Given the description of an element on the screen output the (x, y) to click on. 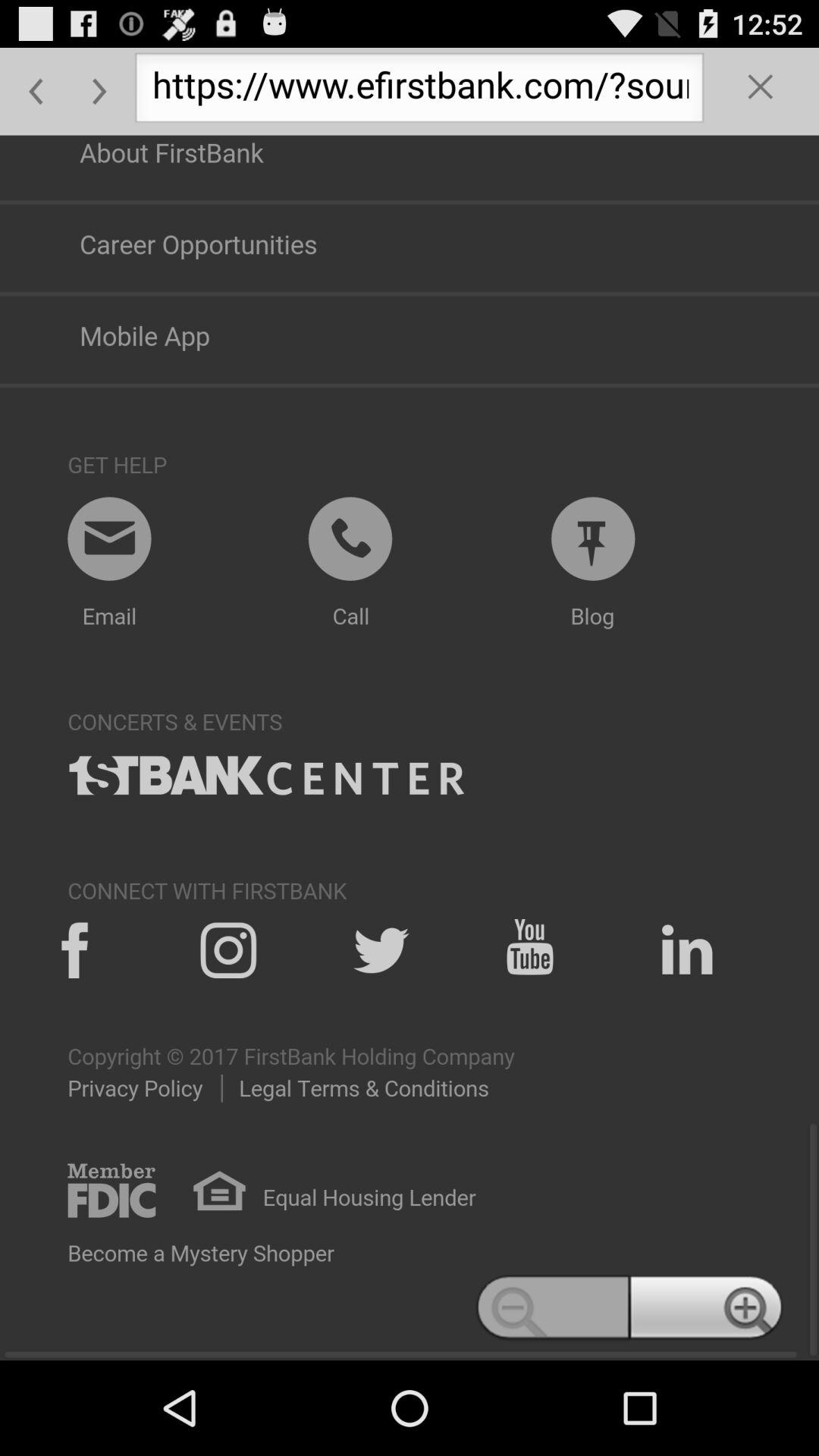
close botton (761, 91)
